Given the description of an element on the screen output the (x, y) to click on. 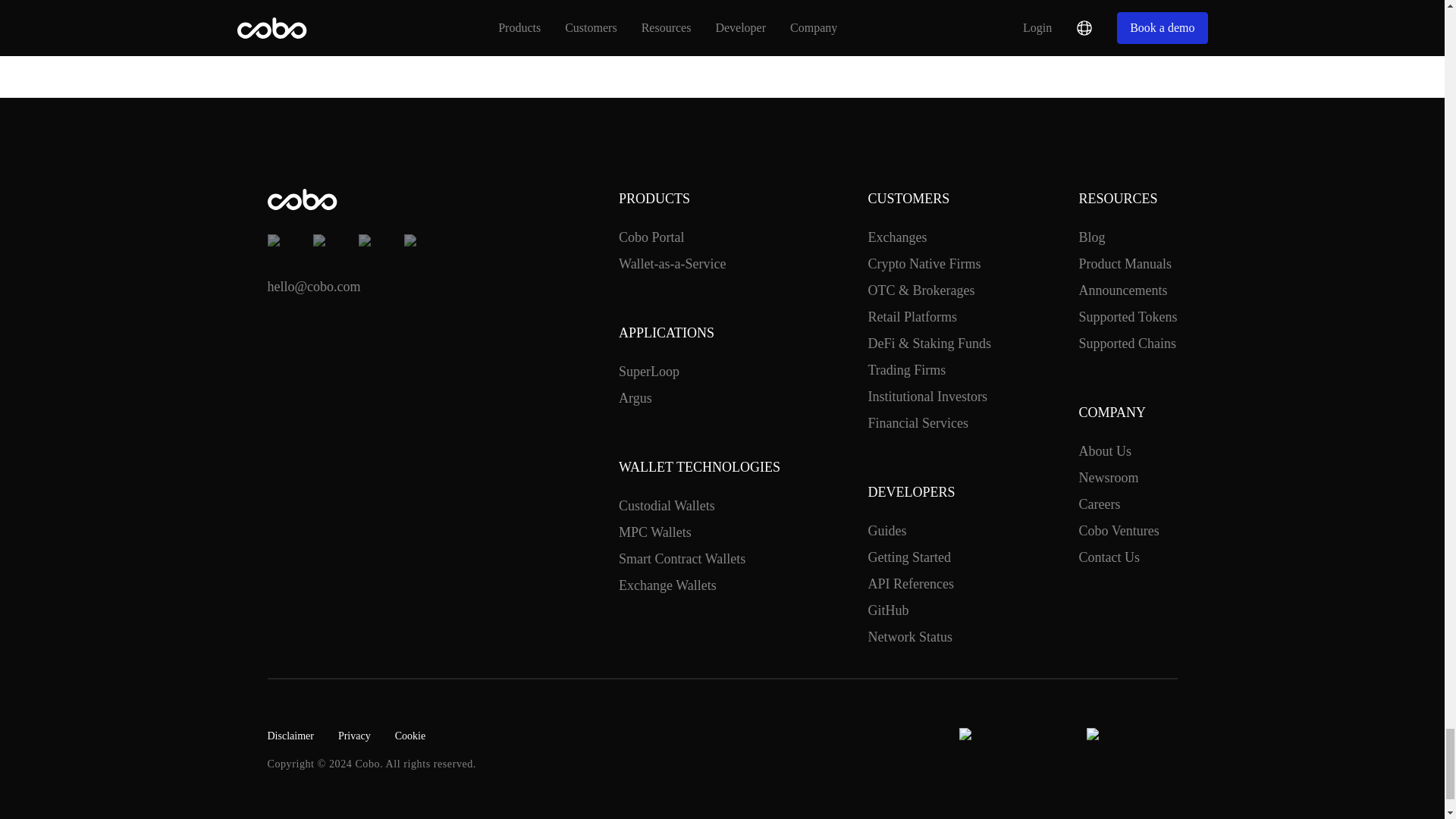
Cobo Portal (651, 237)
Argus (635, 398)
Wallet-as-a-Service (671, 263)
MPC Wallets (654, 532)
Smart Contract Wallets (681, 558)
Book a demo (722, 5)
SuperLoop (648, 371)
Custodial Wallets (666, 506)
